Given the description of an element on the screen output the (x, y) to click on. 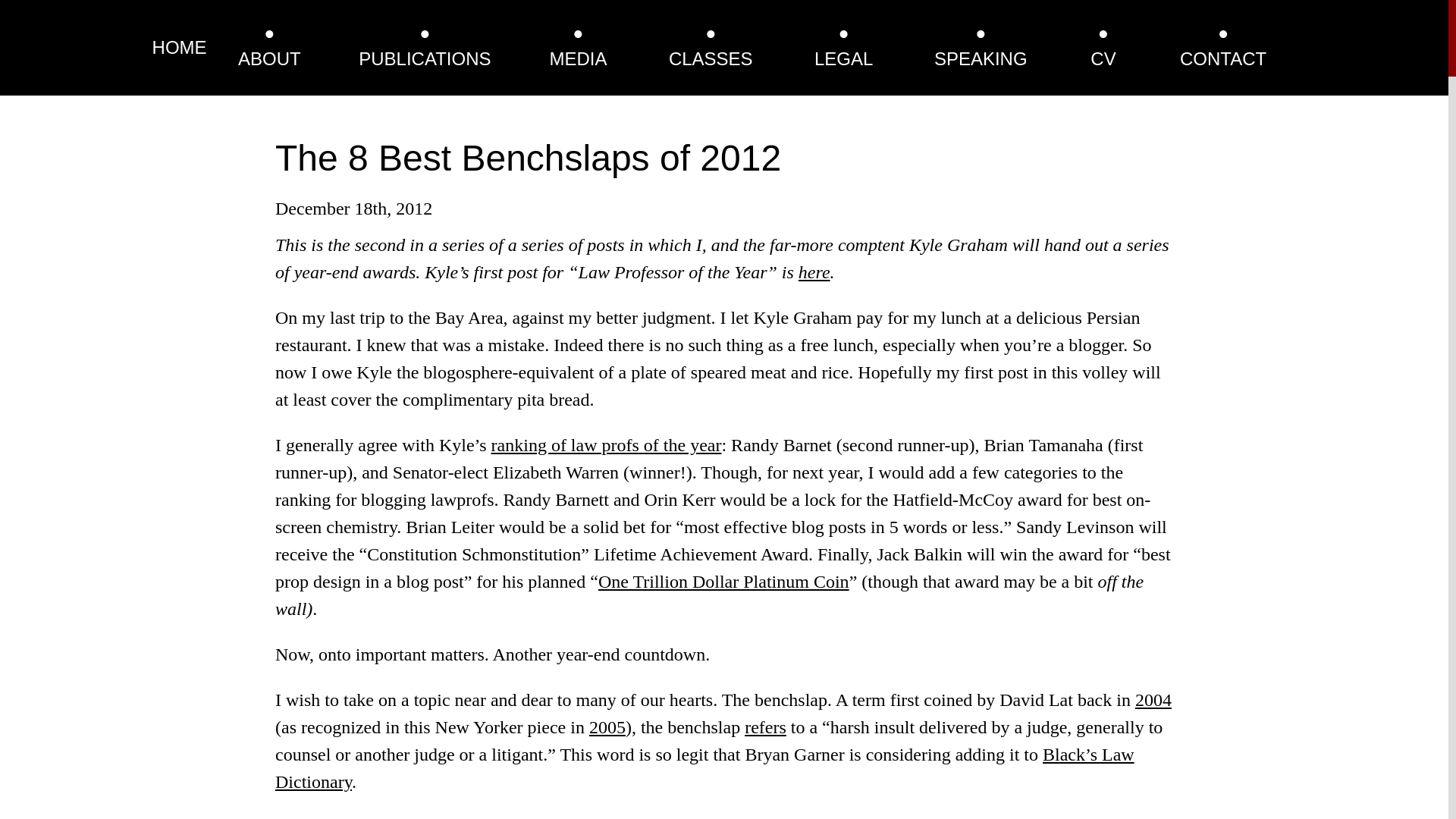
CV (1102, 58)
CLASSES (710, 58)
CONTACT (1222, 58)
One Trillion Dollar Platinum Coin (723, 581)
SPEAKING (980, 58)
MEDIA (577, 58)
refers (765, 727)
LEGAL (842, 58)
Permanent Link to The 8 Best Benchslaps of 2012 (527, 158)
here (813, 271)
